Given the description of an element on the screen output the (x, y) to click on. 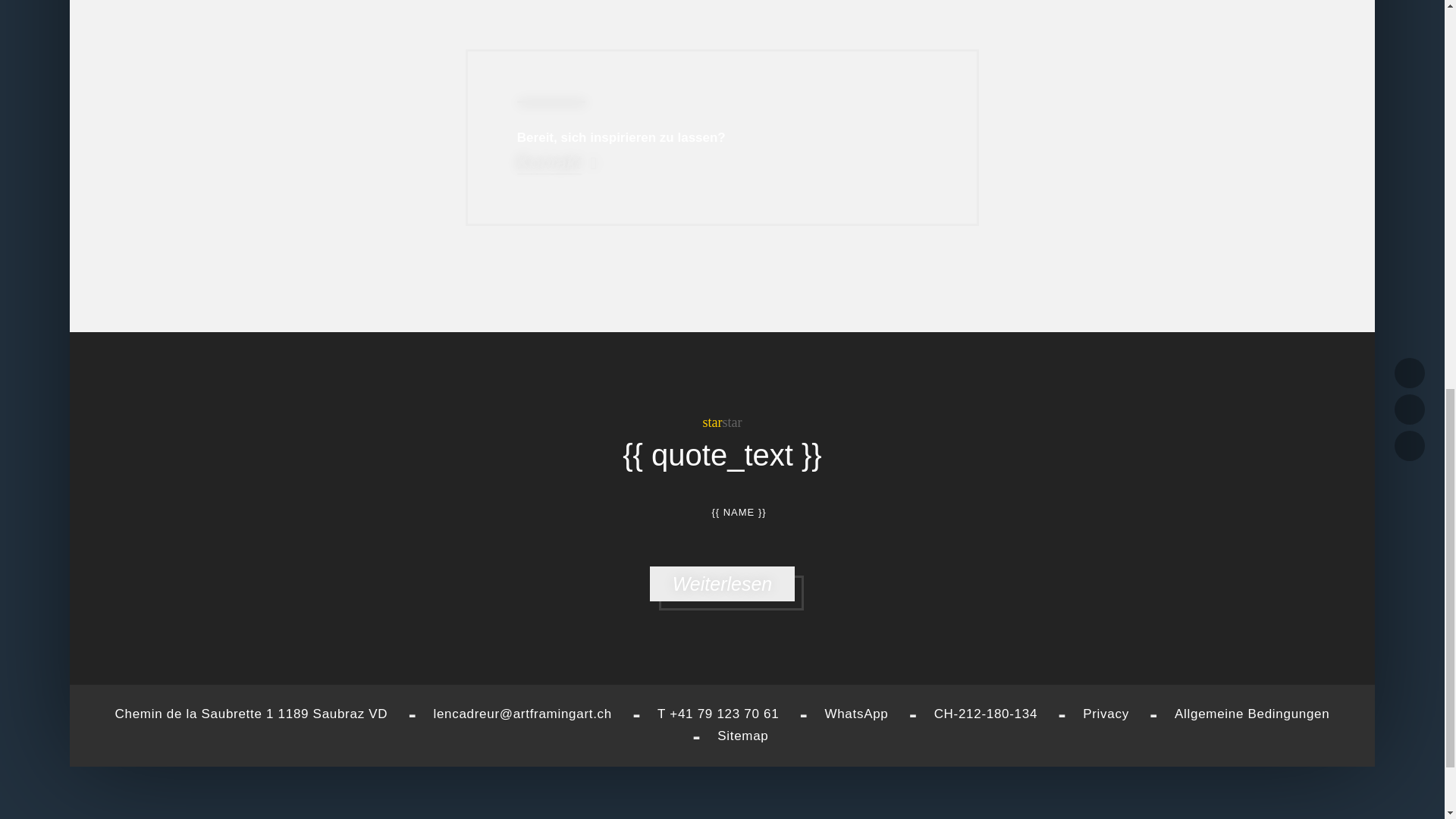
Weiterlesen (721, 583)
CH-212-180-134 (985, 713)
WhatsApp (856, 713)
Kontakt (556, 162)
Chemin de la Saubrette 1 1189 Saubraz VD (253, 713)
Privacy (1106, 713)
Sitemap (742, 735)
Allgemeine Bedingungen (1251, 713)
